Given the description of an element on the screen output the (x, y) to click on. 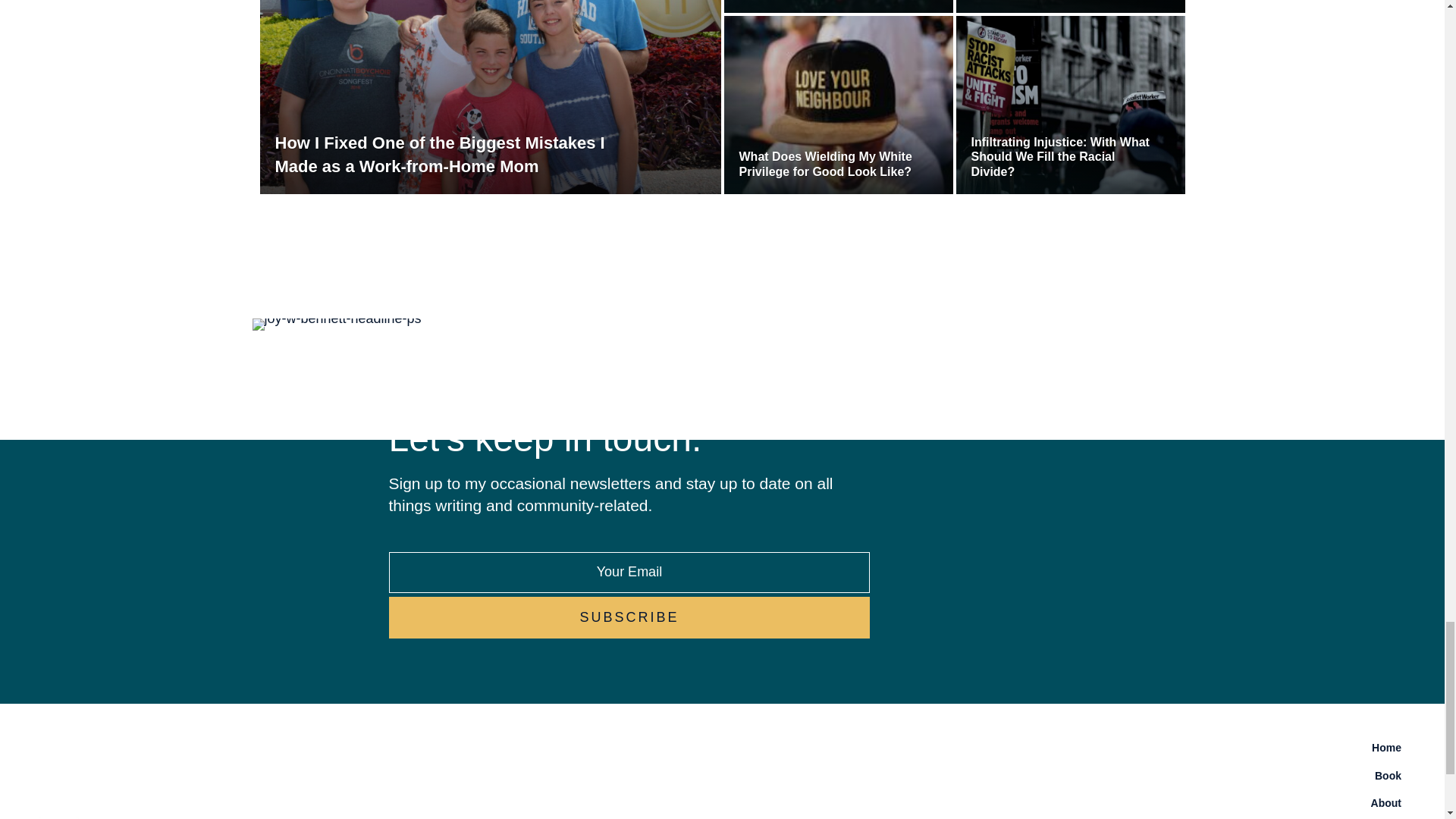
Subscribe (628, 618)
Home (1071, 747)
What Does Wielding My White Privilege for Good Look Like? (829, 163)
About (1071, 802)
Subscribe (628, 618)
Book (1071, 775)
